Given the description of an element on the screen output the (x, y) to click on. 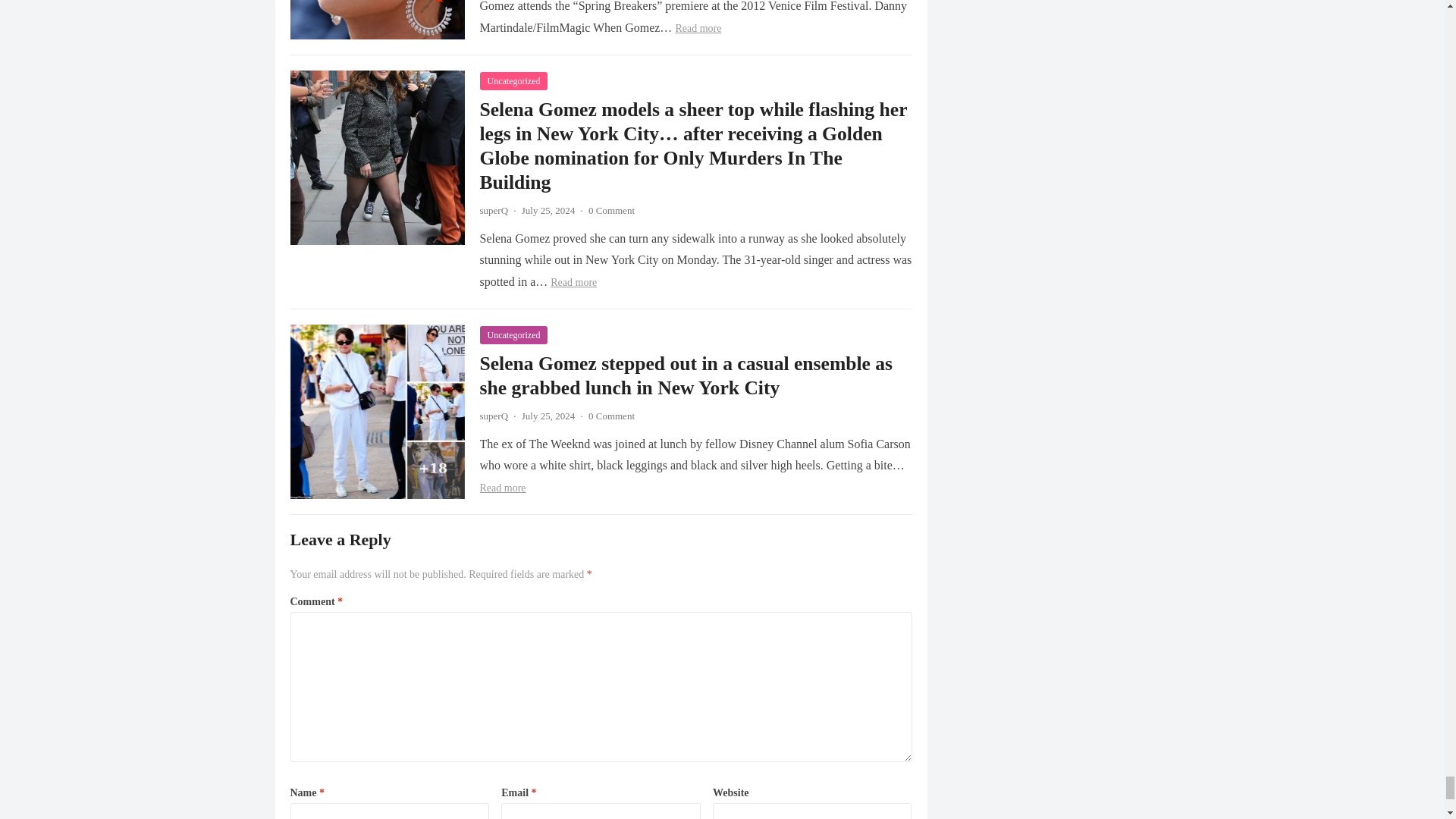
Posts by superQ (493, 210)
Posts by superQ (493, 415)
